Given the description of an element on the screen output the (x, y) to click on. 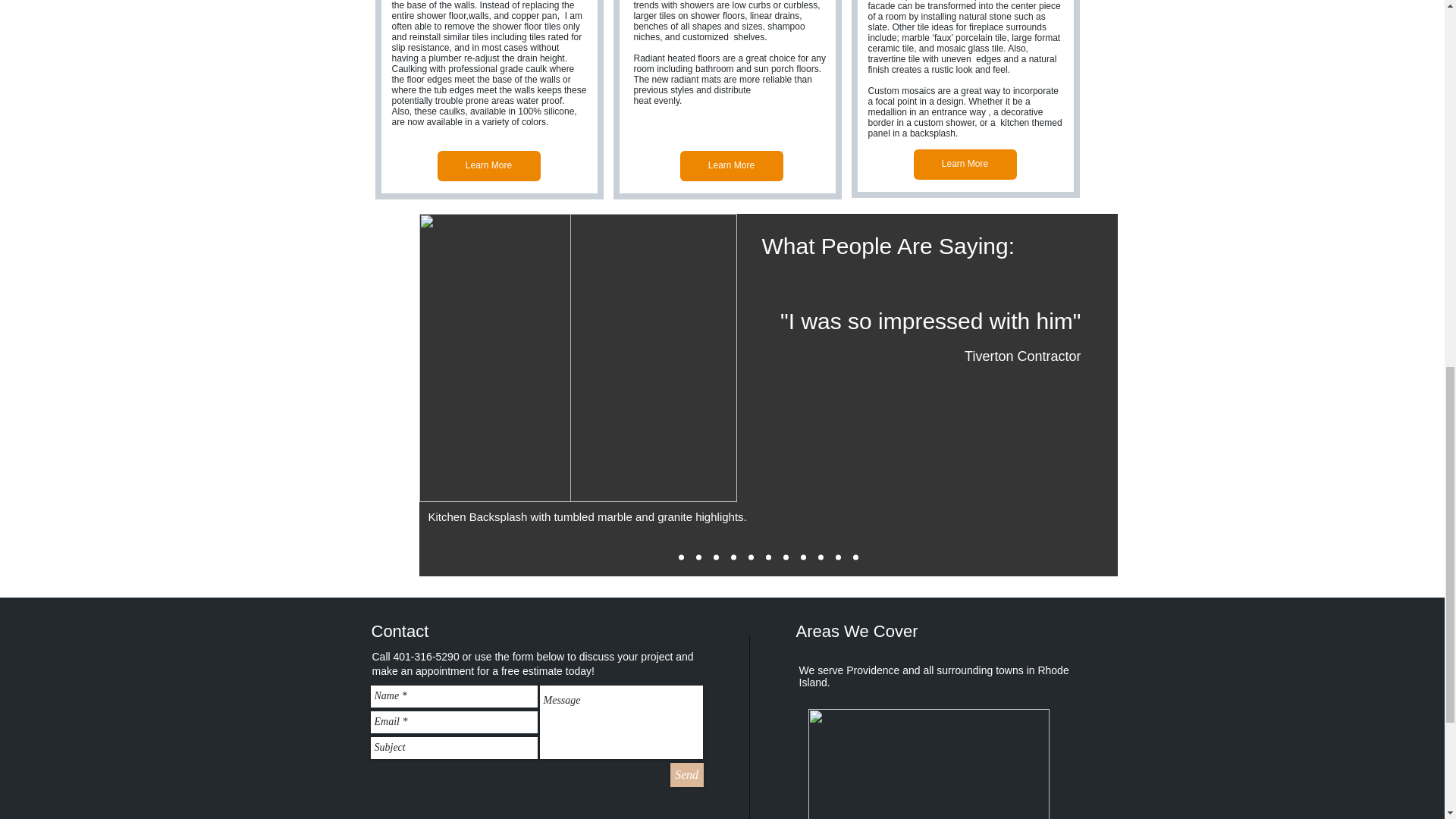
Learn More (731, 165)
Send (686, 774)
Learn More (488, 165)
Learn More (964, 164)
